Given the description of an element on the screen output the (x, y) to click on. 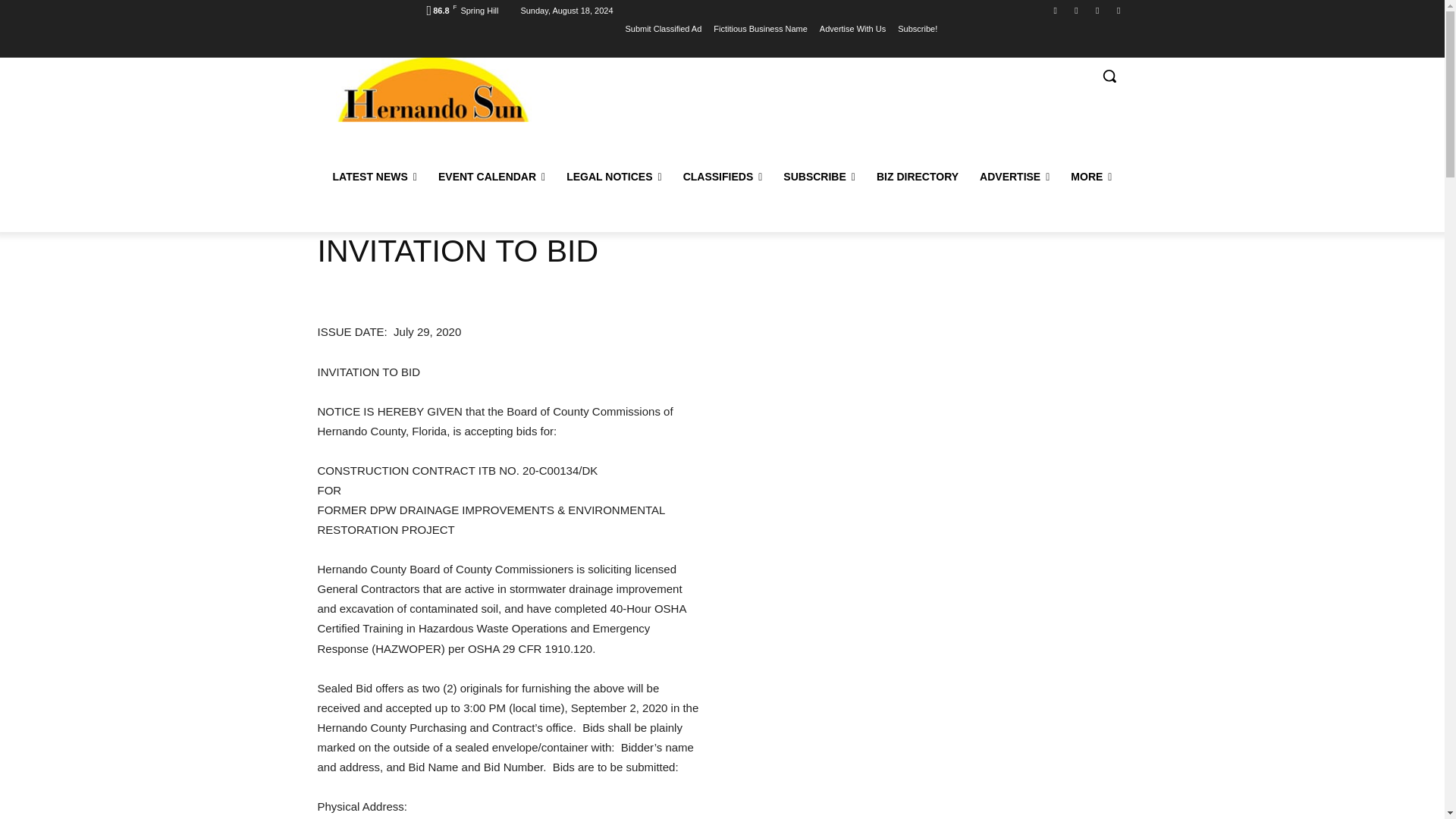
Instagram (1117, 9)
Facebook (1055, 9)
Hernando Sun Logo (432, 89)
Youtube (1097, 9)
Twitter (1075, 9)
